Given the description of an element on the screen output the (x, y) to click on. 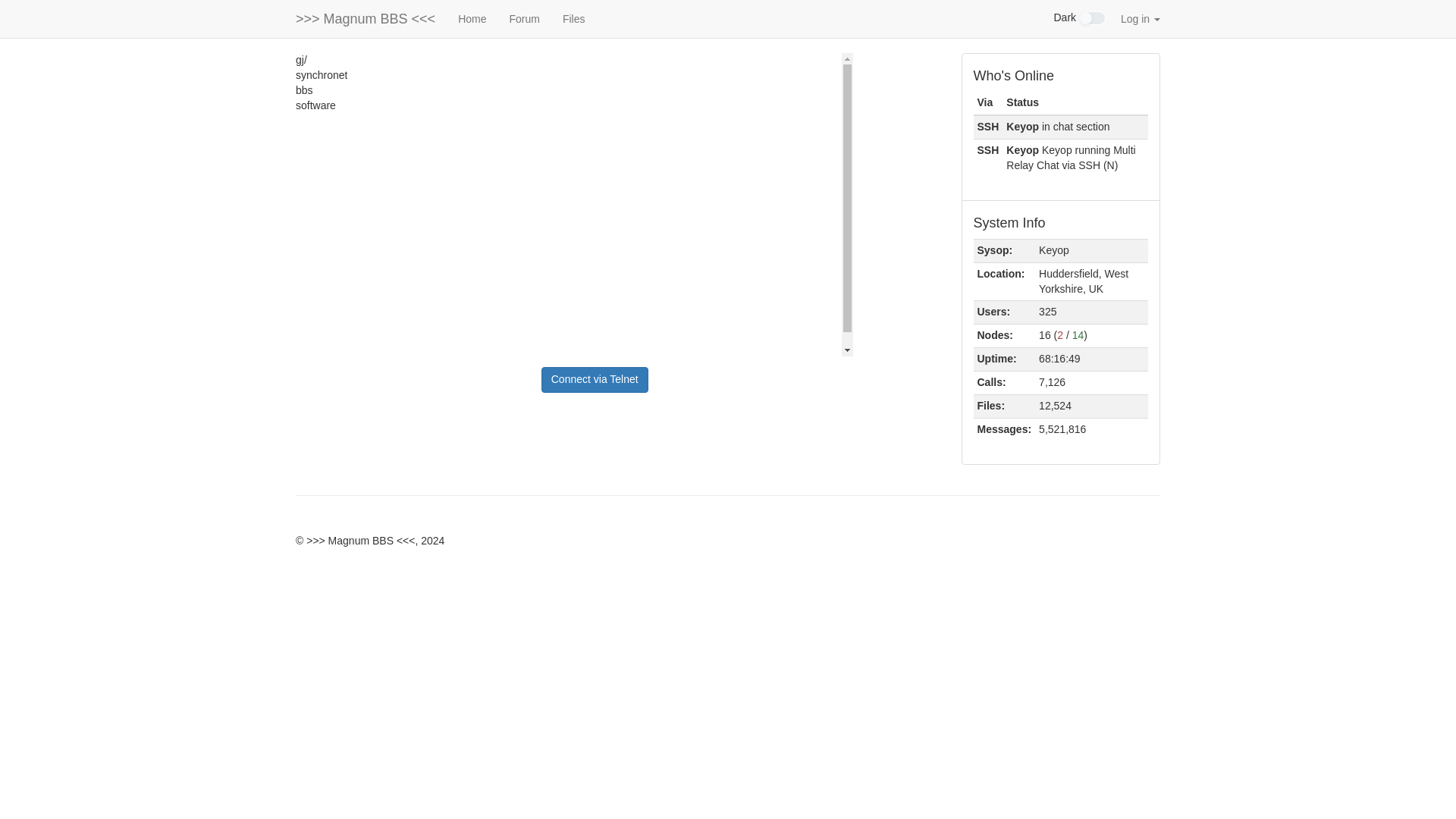
Files (573, 18)
Available (1077, 335)
Log in (1140, 18)
Forum (523, 18)
Home (471, 18)
Connect via Telnet (594, 379)
